Given the description of an element on the screen output the (x, y) to click on. 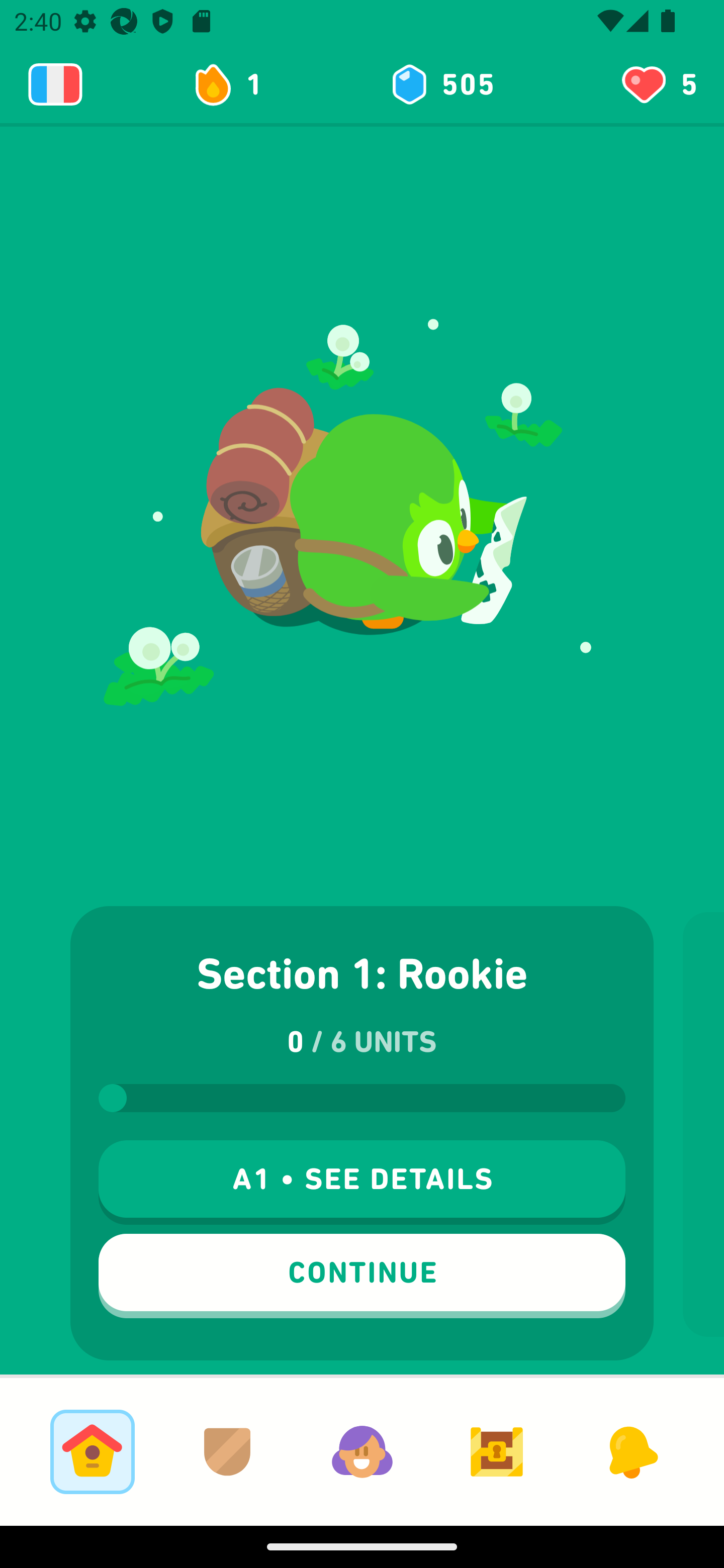
Learning 2131888976 (55, 84)
1 day streak 1 (236, 84)
505 (441, 84)
You have 5 hearts left 5 (657, 84)
A1 • SEE DETAILS (361, 1181)
CONTINUE (361, 1276)
Learn Tab (91, 1451)
Leagues Tab (227, 1451)
Profile Tab (361, 1451)
Goals Tab (496, 1451)
News Tab (631, 1451)
